Given the description of an element on the screen output the (x, y) to click on. 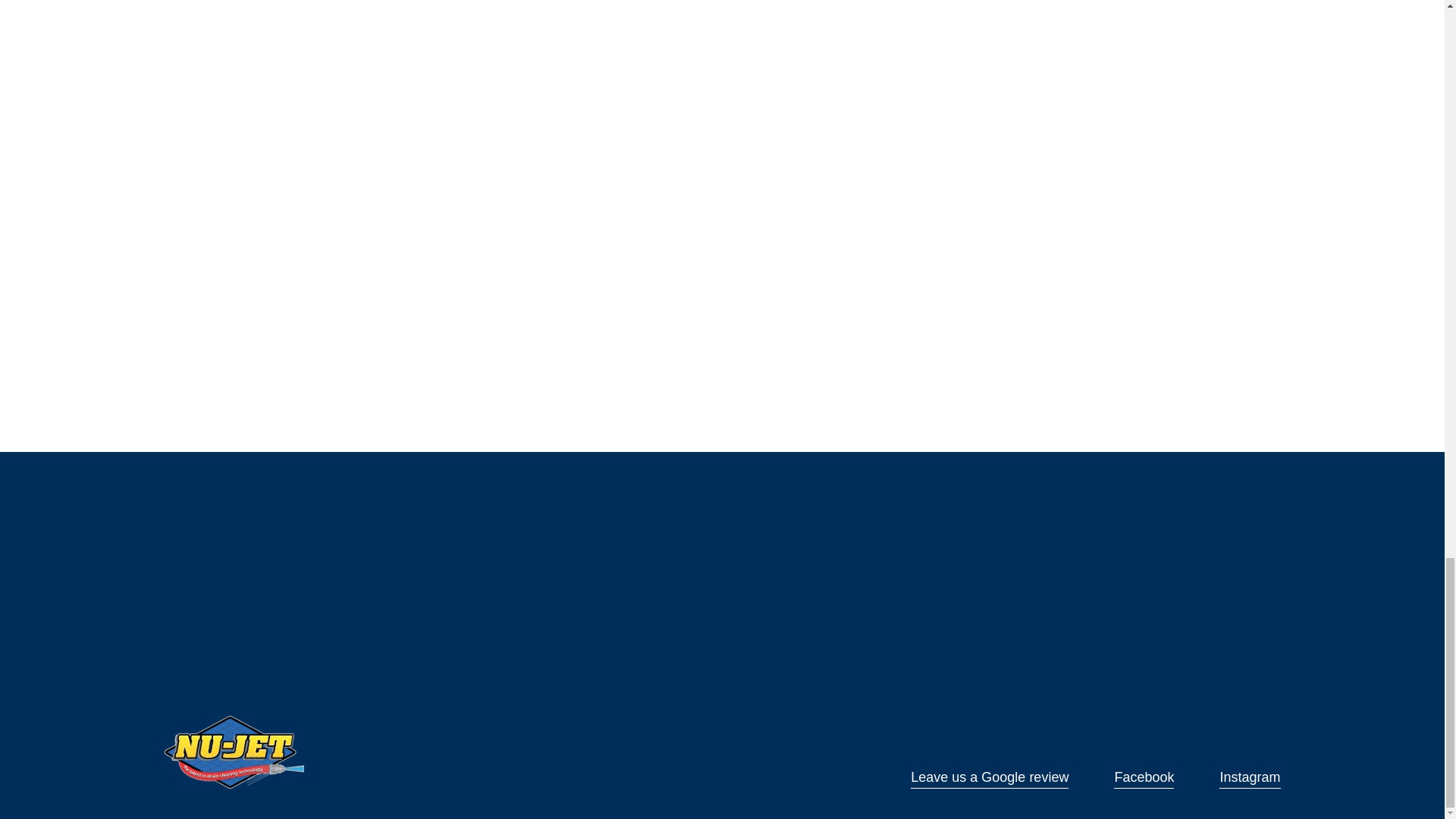
Leave us a Google review (989, 777)
Facebook (1143, 777)
Home (233, 751)
Instagram (1249, 777)
